Given the description of an element on the screen output the (x, y) to click on. 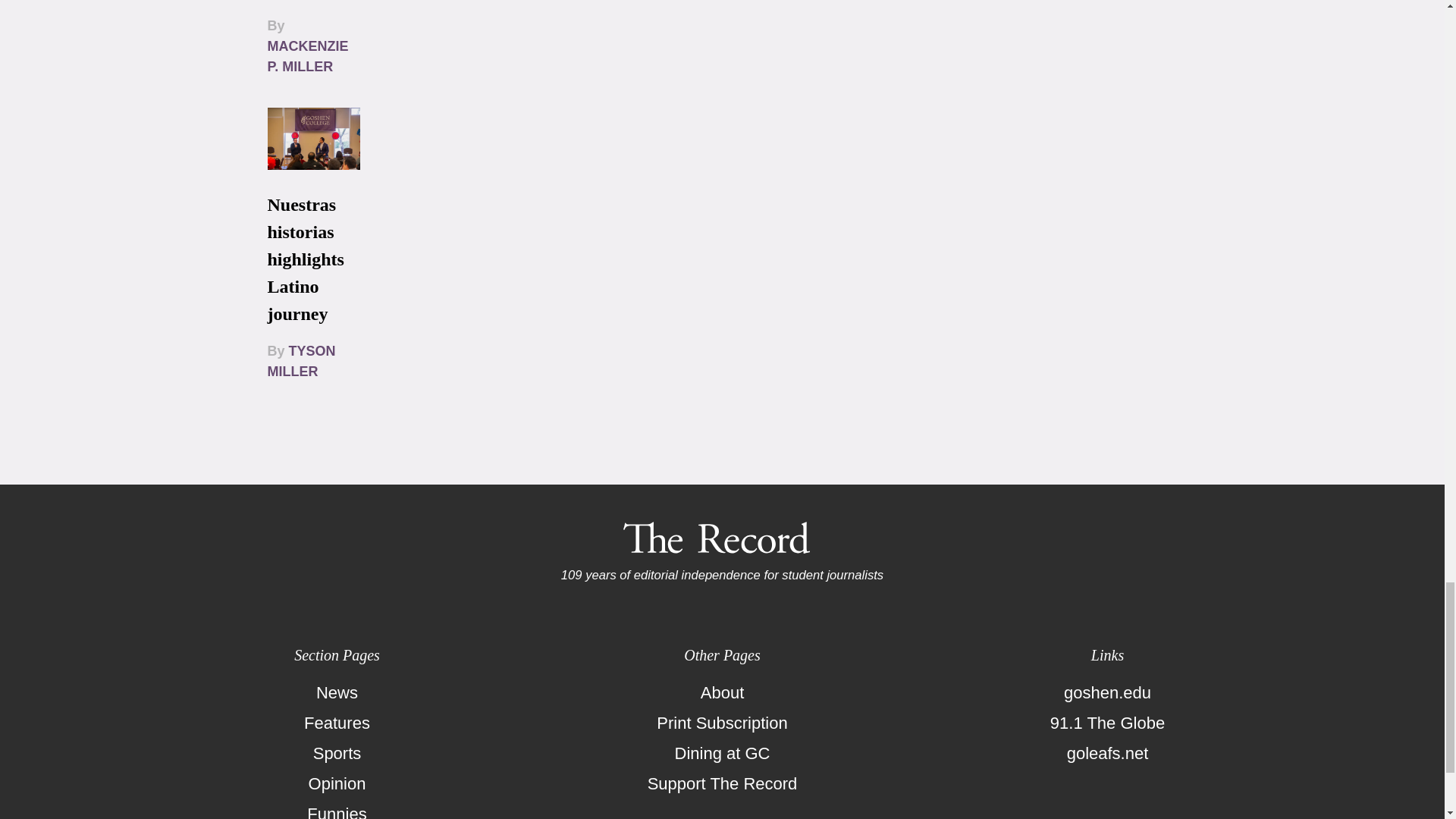
Opinion (336, 784)
About (722, 693)
Dining at GC (722, 753)
MACKENZIE P. MILLER (306, 56)
Features (336, 723)
Funnies (336, 809)
TYSON MILLER (300, 361)
Print Subscription (722, 723)
News (336, 693)
Sports (336, 753)
